Given the description of an element on the screen output the (x, y) to click on. 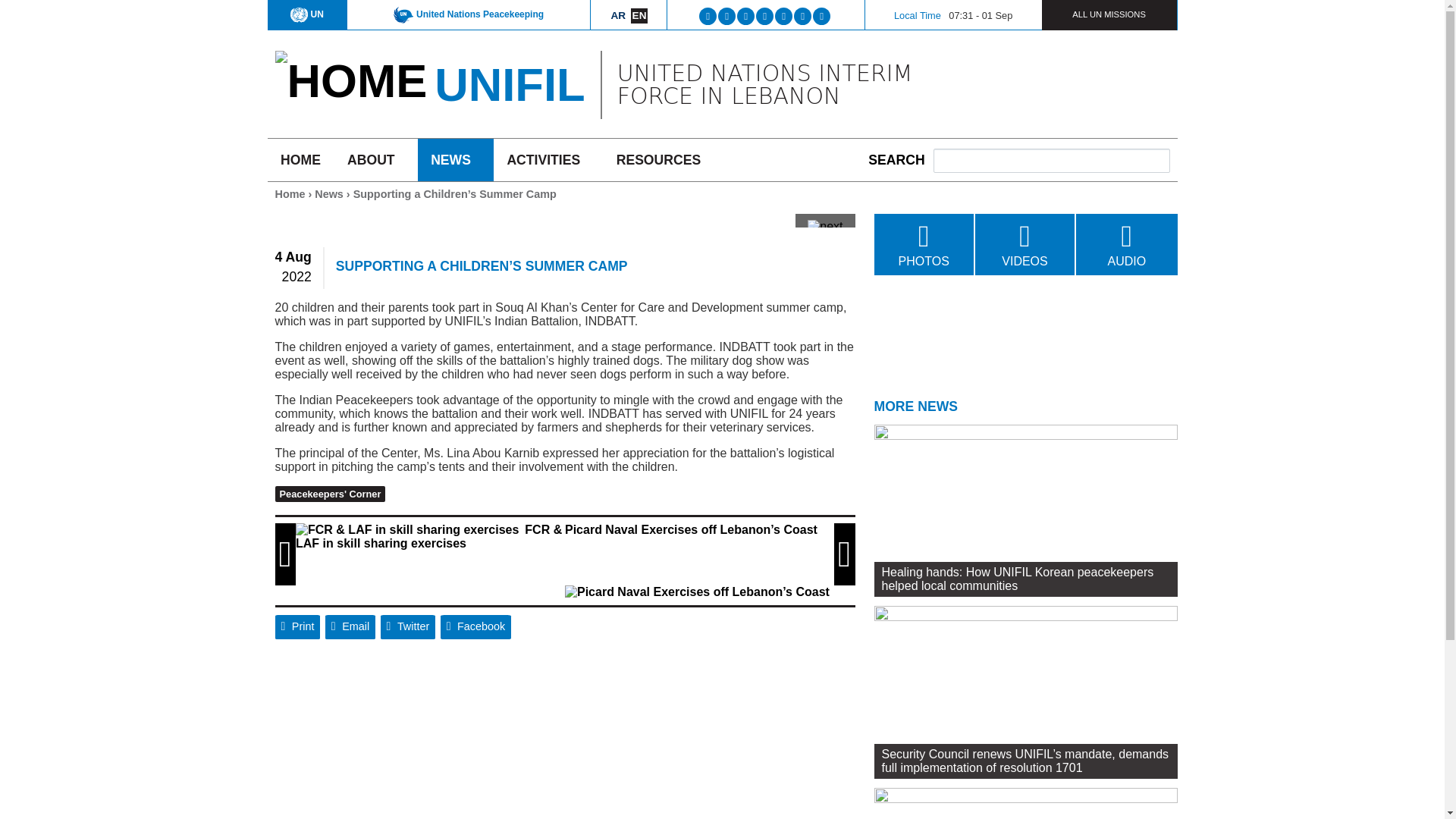
EN (638, 15)
UN (306, 14)
Home (349, 80)
ALL UN MISSIONS (1109, 13)
next (825, 226)
HOME (299, 159)
AR (618, 15)
UNIFIL (509, 84)
Enter the terms you wish to search for. (1051, 160)
United Nations Peacekeeping (468, 14)
